Given the description of an element on the screen output the (x, y) to click on. 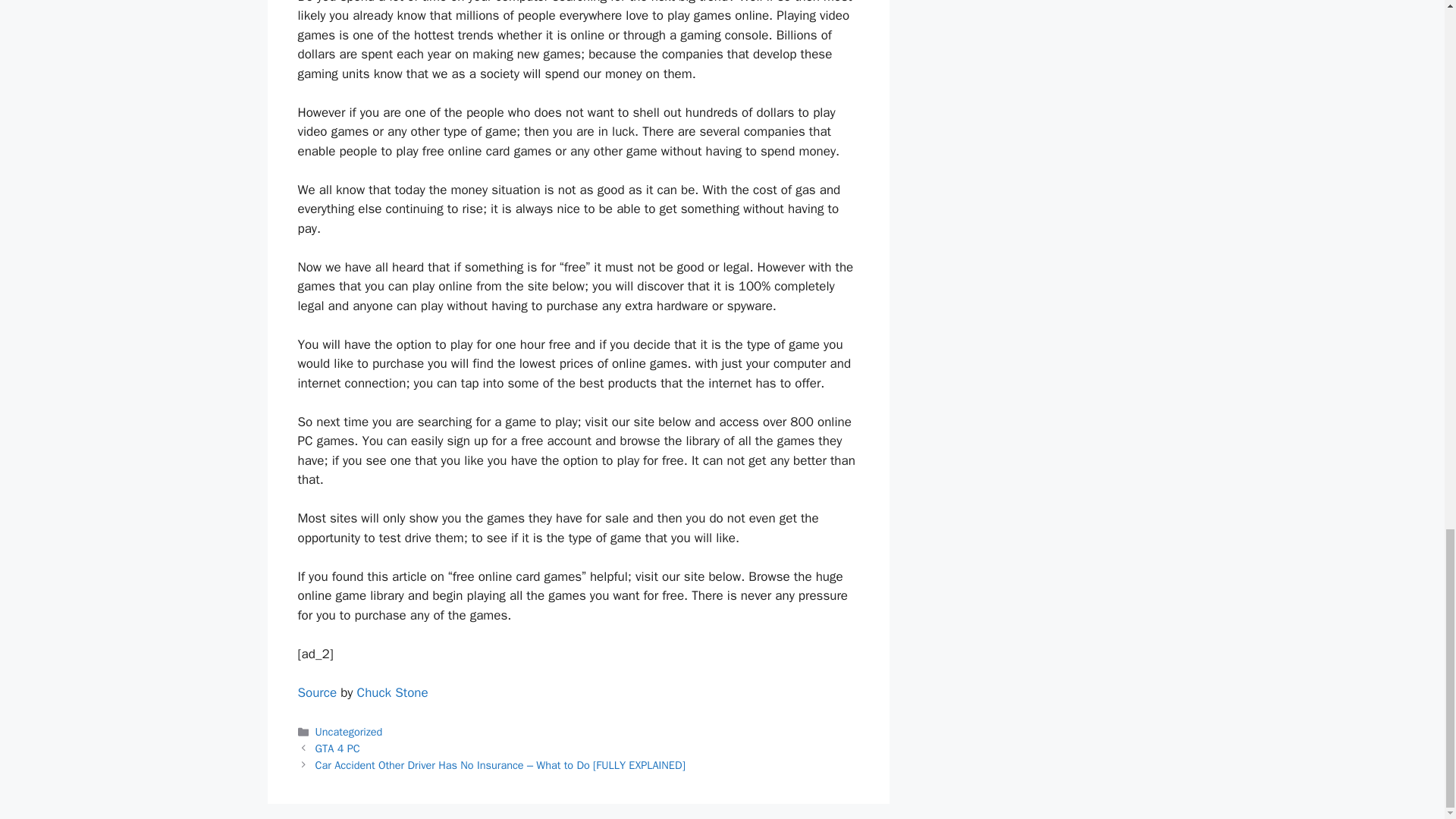
Chuck Stone (392, 692)
Uncategorized (348, 731)
Source (316, 692)
GTA 4 PC (337, 748)
